Given the description of an element on the screen output the (x, y) to click on. 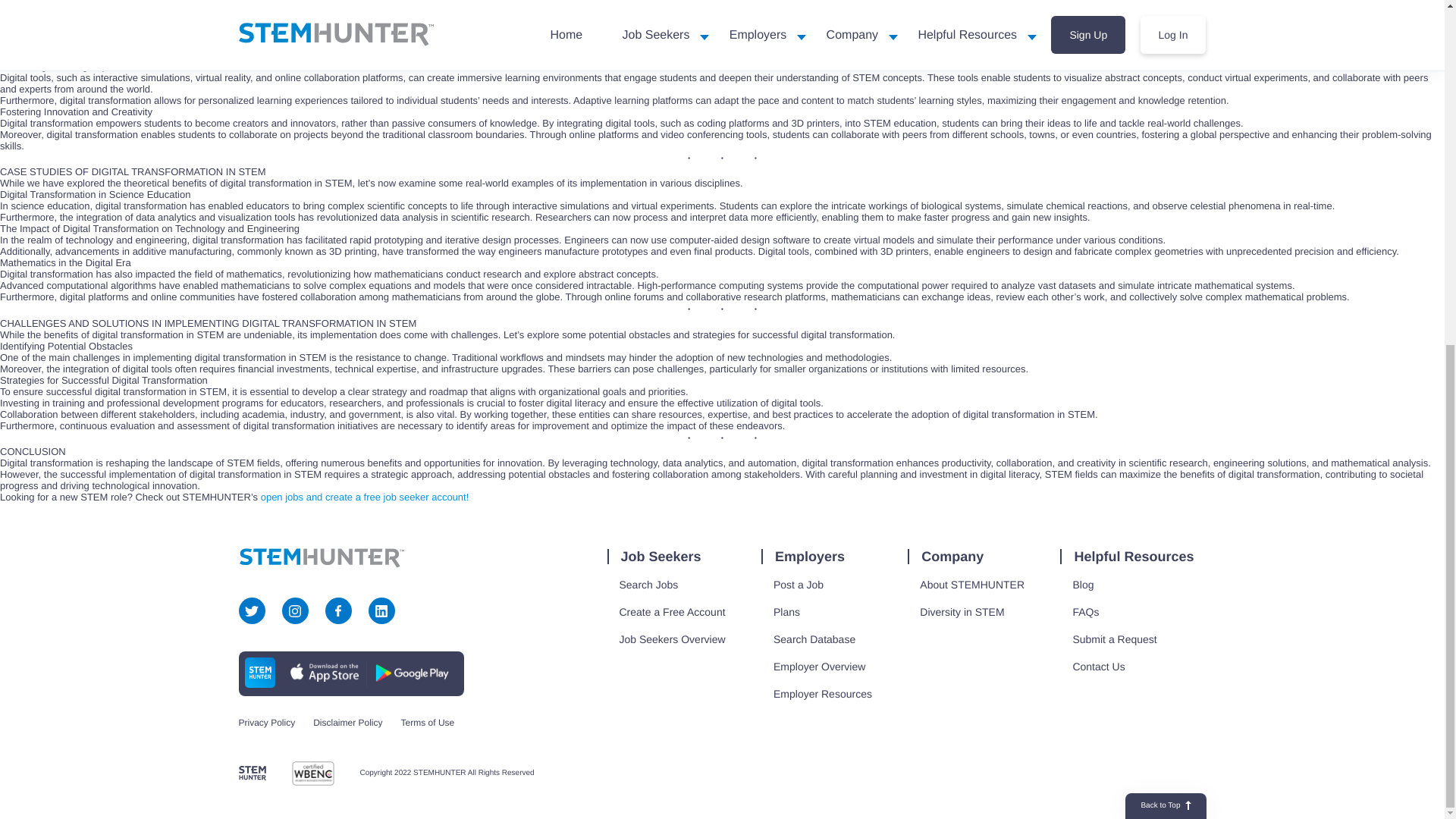
Search Database (814, 639)
Company (951, 556)
Employer Overview (819, 666)
Privacy Policy (266, 722)
Create a Free Account (671, 611)
Terms of Use (427, 722)
About STEMHUNTER (971, 584)
Search Jobs (648, 584)
Job Seekers Overview (671, 639)
open jobs and create a free job seeker account! (364, 496)
